Given the description of an element on the screen output the (x, y) to click on. 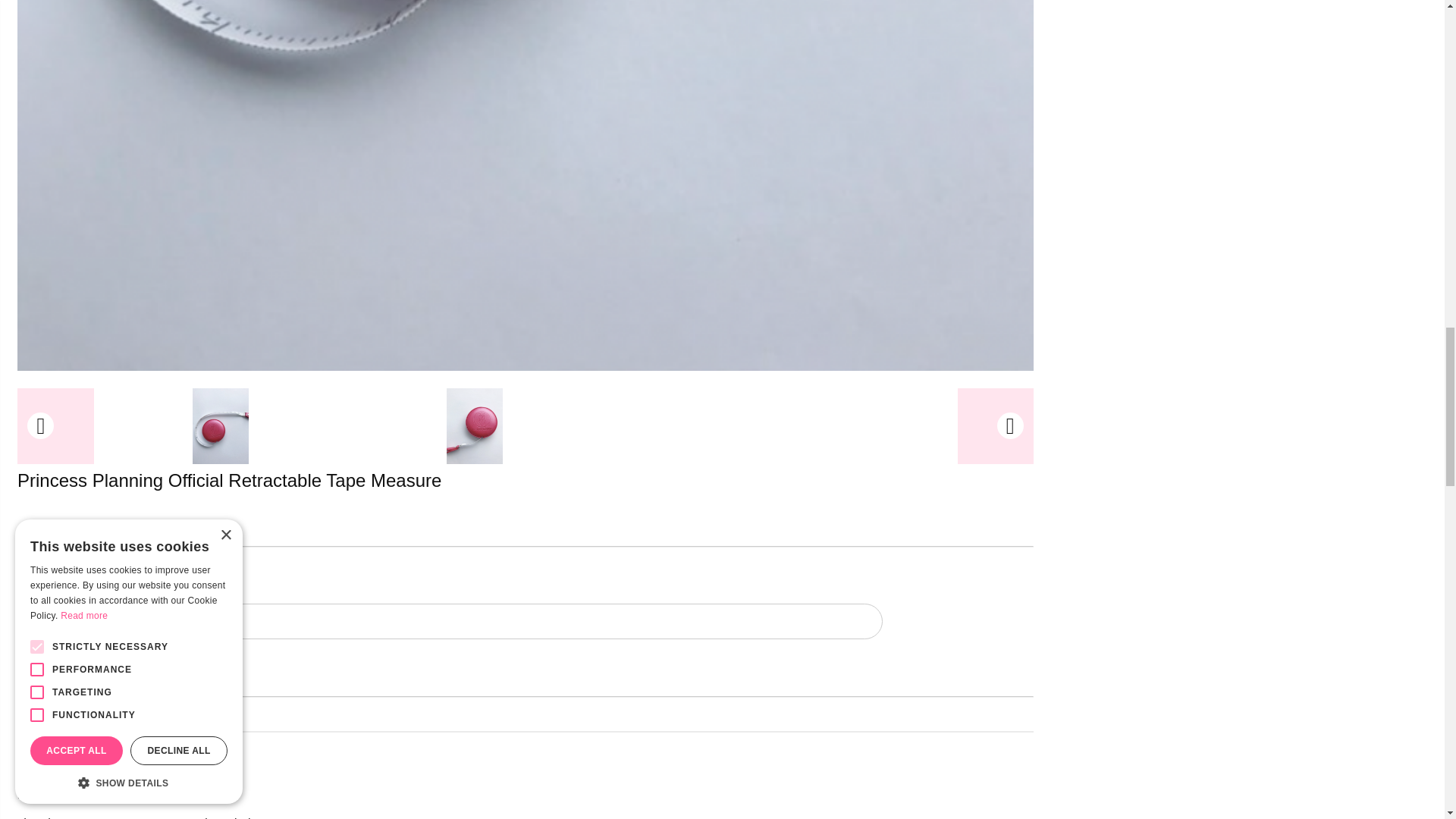
1 (77, 621)
